Given the description of an element on the screen output the (x, y) to click on. 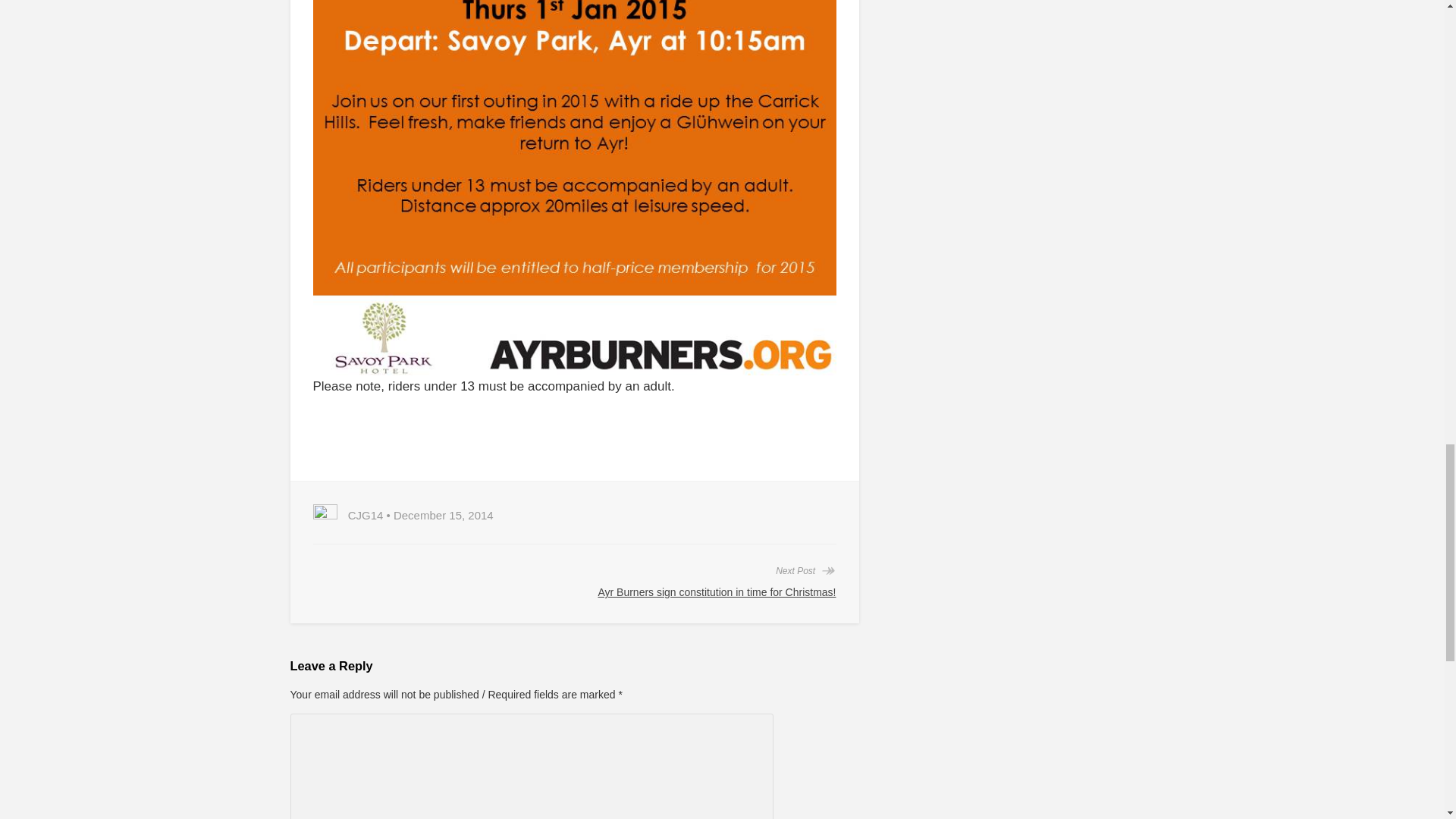
Ayr Burners sign constitution in time for Christmas! (715, 592)
